Given the description of an element on the screen output the (x, y) to click on. 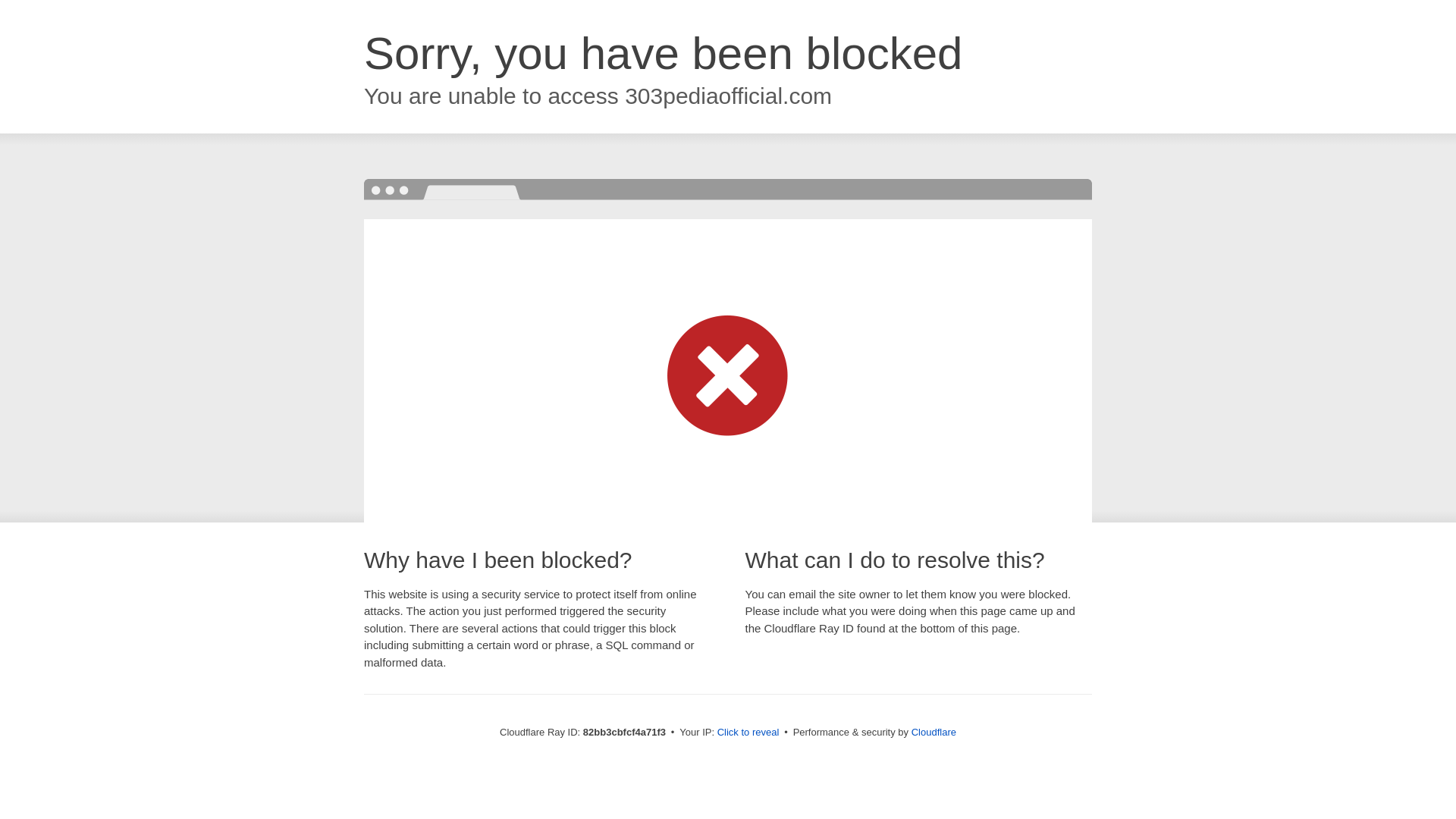
Cloudflare Element type: text (933, 731)
Click to reveal Element type: text (748, 732)
